Given the description of an element on the screen output the (x, y) to click on. 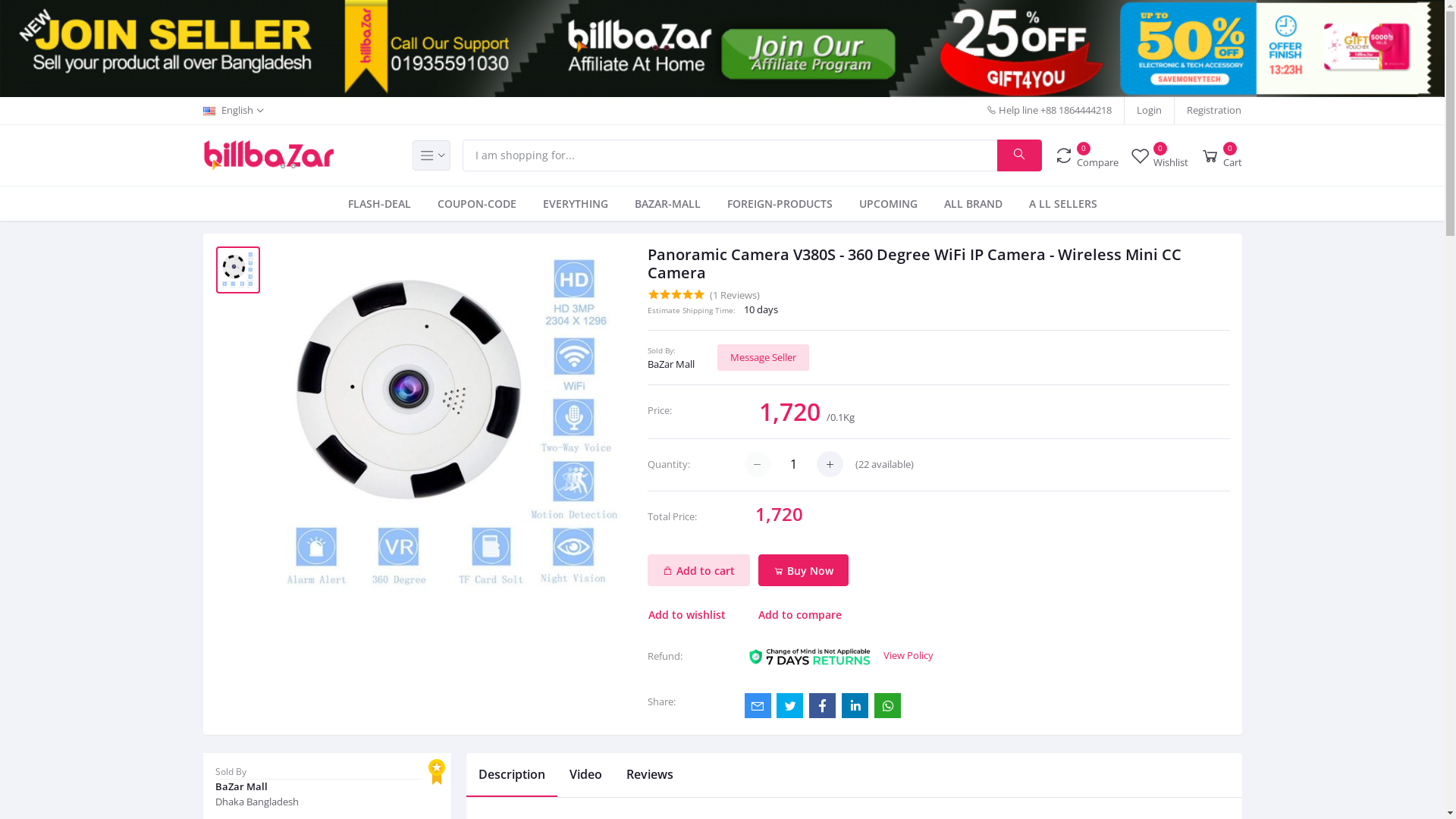
0
Compare Element type: text (1086, 154)
FOREIGN-PRODUCTS Element type: text (779, 203)
COUPON-CODE Element type: text (475, 203)
0
Wishlist Element type: text (1158, 154)
Add to wishlist Element type: text (693, 614)
View Policy Element type: text (908, 655)
FLASH-DEAL Element type: text (378, 203)
EVERYTHING Element type: text (575, 203)
UPCOMING Element type: text (887, 203)
Login Element type: text (1148, 110)
Add to cart Element type: text (698, 570)
A LL SELLERS Element type: text (1062, 203)
Reviews Element type: text (649, 775)
English Element type: text (233, 110)
0
Cart Element type: text (1220, 155)
Buy Now Element type: text (803, 570)
Registration Element type: text (1213, 110)
Description Element type: text (511, 775)
BaZar Mall Element type: text (327, 786)
BaZar Mall Element type: text (670, 363)
BAZAR-MALL Element type: text (666, 203)
Help line +88 1864444218 Element type: text (1048, 110)
Message Seller Element type: text (763, 357)
Video Element type: text (585, 775)
ALL BRAND Element type: text (972, 203)
Add to compare Element type: text (799, 614)
